Given the description of an element on the screen output the (x, y) to click on. 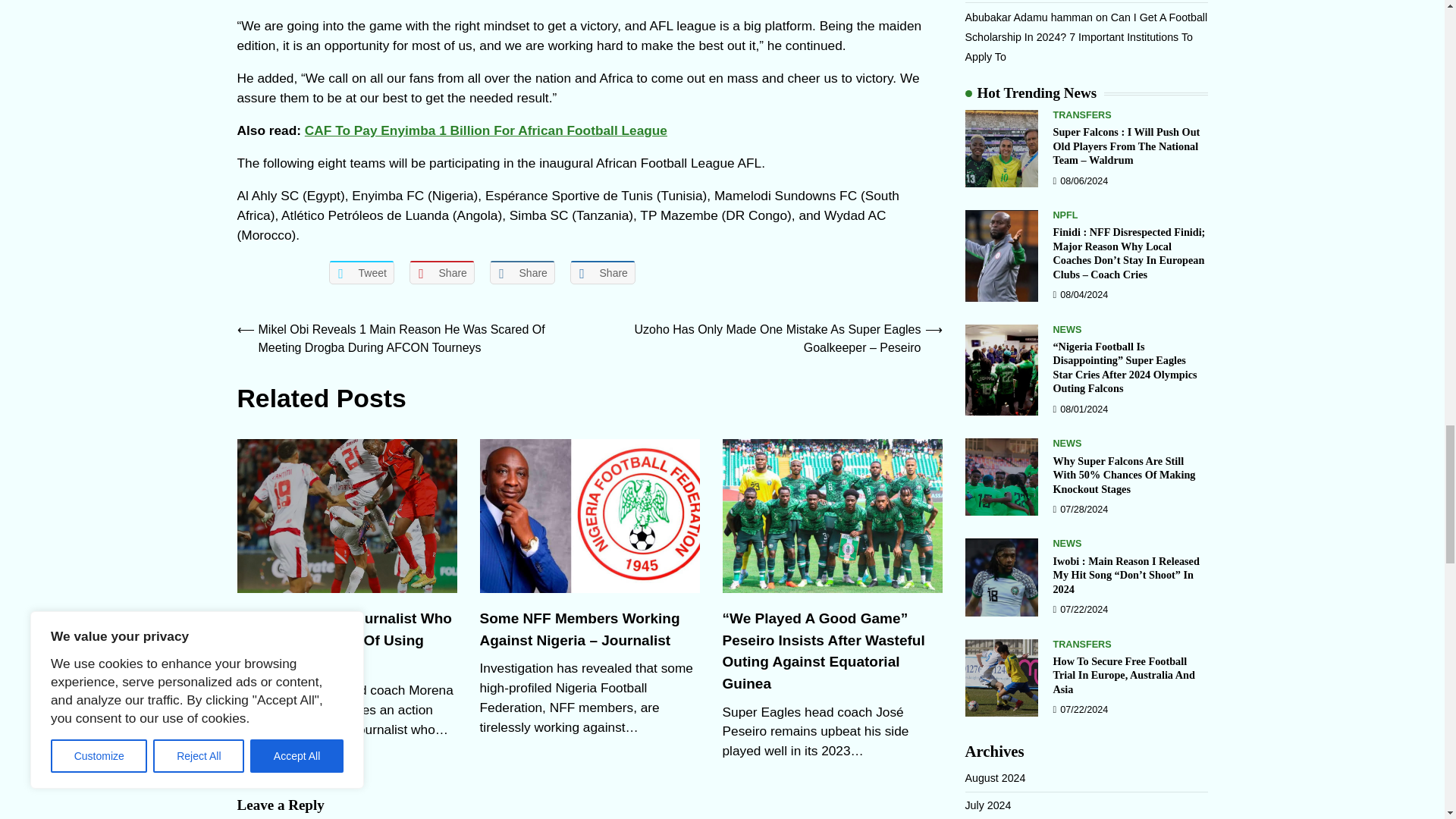
Tweet (361, 272)
Share on LinkedIn (521, 272)
Share on Digg (602, 272)
Share on Pinterest (441, 272)
Share (441, 272)
Share on Twitter (361, 272)
CAF To Pay Enyimba 1 Billion For African Football League (485, 130)
